Given the description of an element on the screen output the (x, y) to click on. 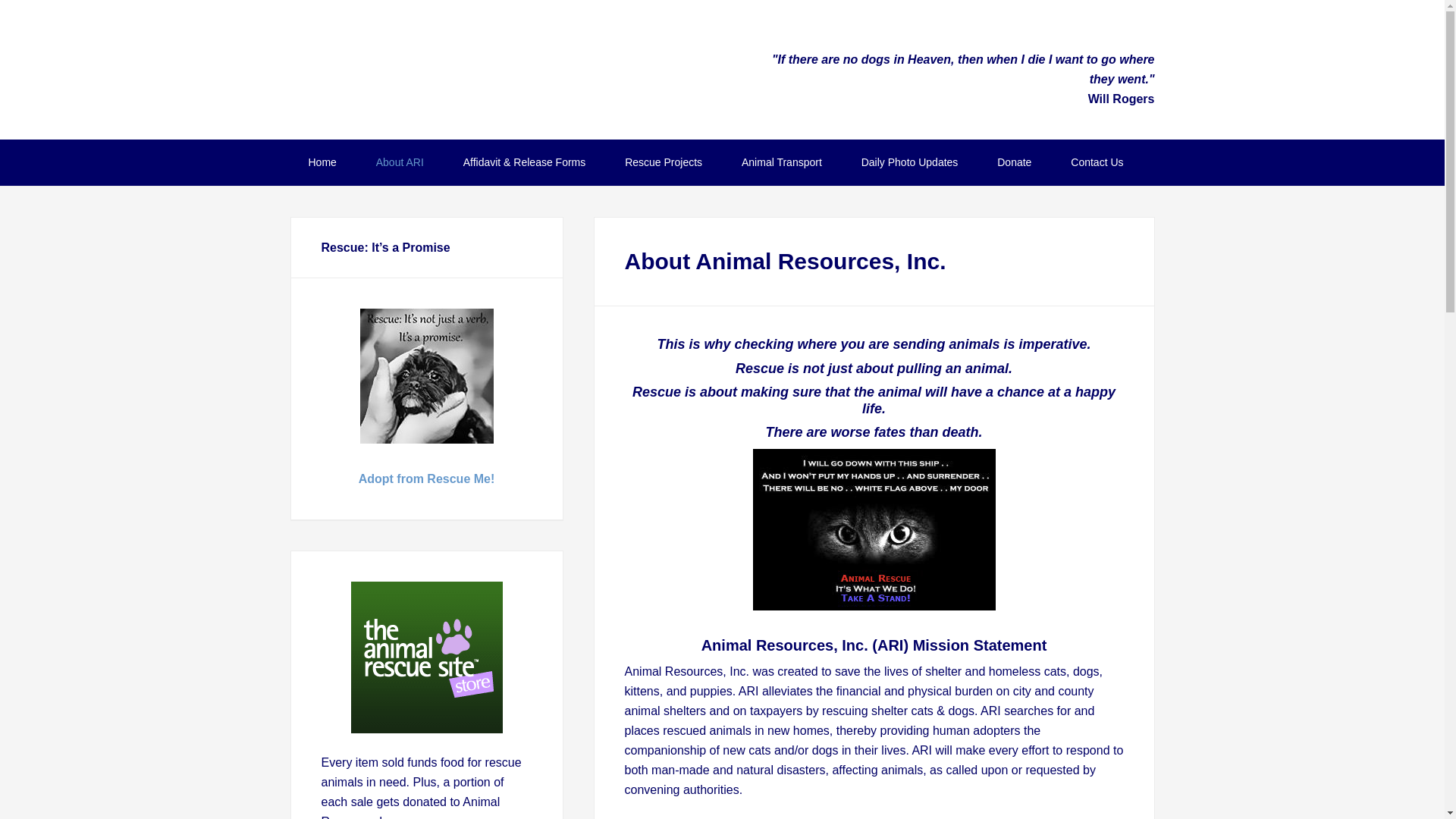
Home (321, 162)
About ARI (400, 162)
Animal Resources, Inc. (516, 68)
Contact Us (1096, 162)
Animal Transport (781, 162)
Rescue Projects (663, 162)
Donate (1013, 162)
Daily Photo Updates (909, 162)
Adopt from Rescue Me! (426, 478)
